Given the description of an element on the screen output the (x, y) to click on. 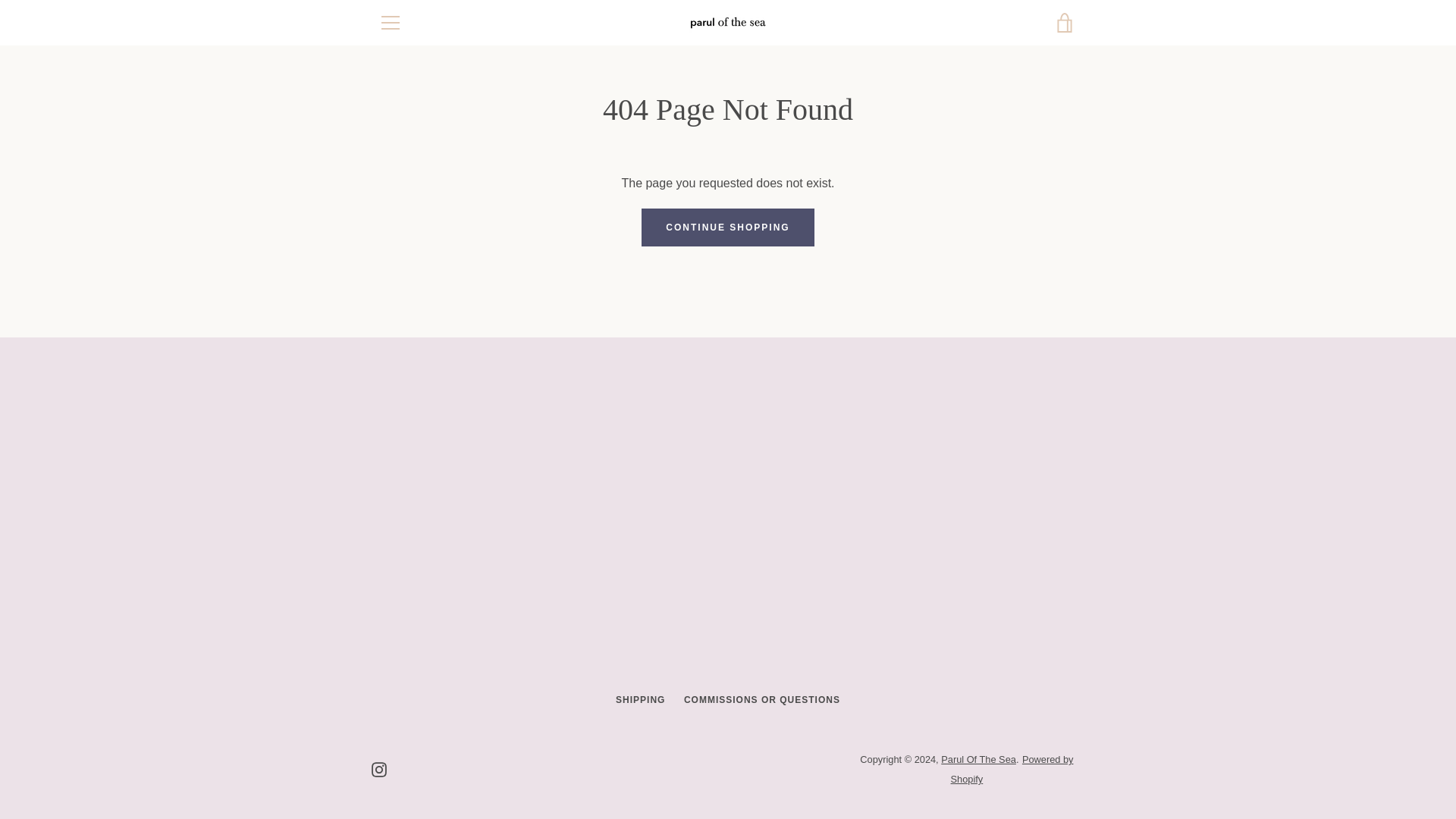
MENU (390, 22)
CONTINUE SHOPPING (727, 227)
VIEW CART (1065, 22)
